Given the description of an element on the screen output the (x, y) to click on. 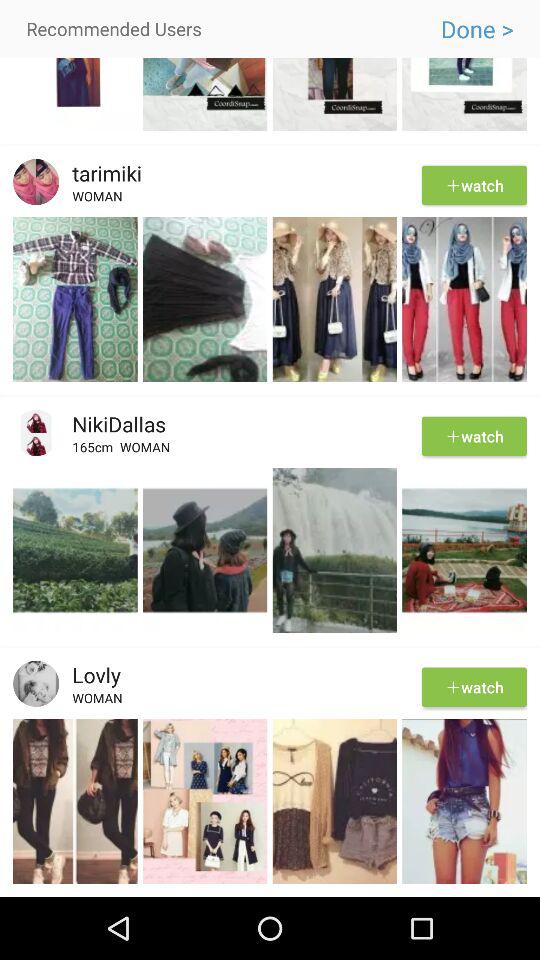
tap the item next to woman icon (96, 450)
